Given the description of an element on the screen output the (x, y) to click on. 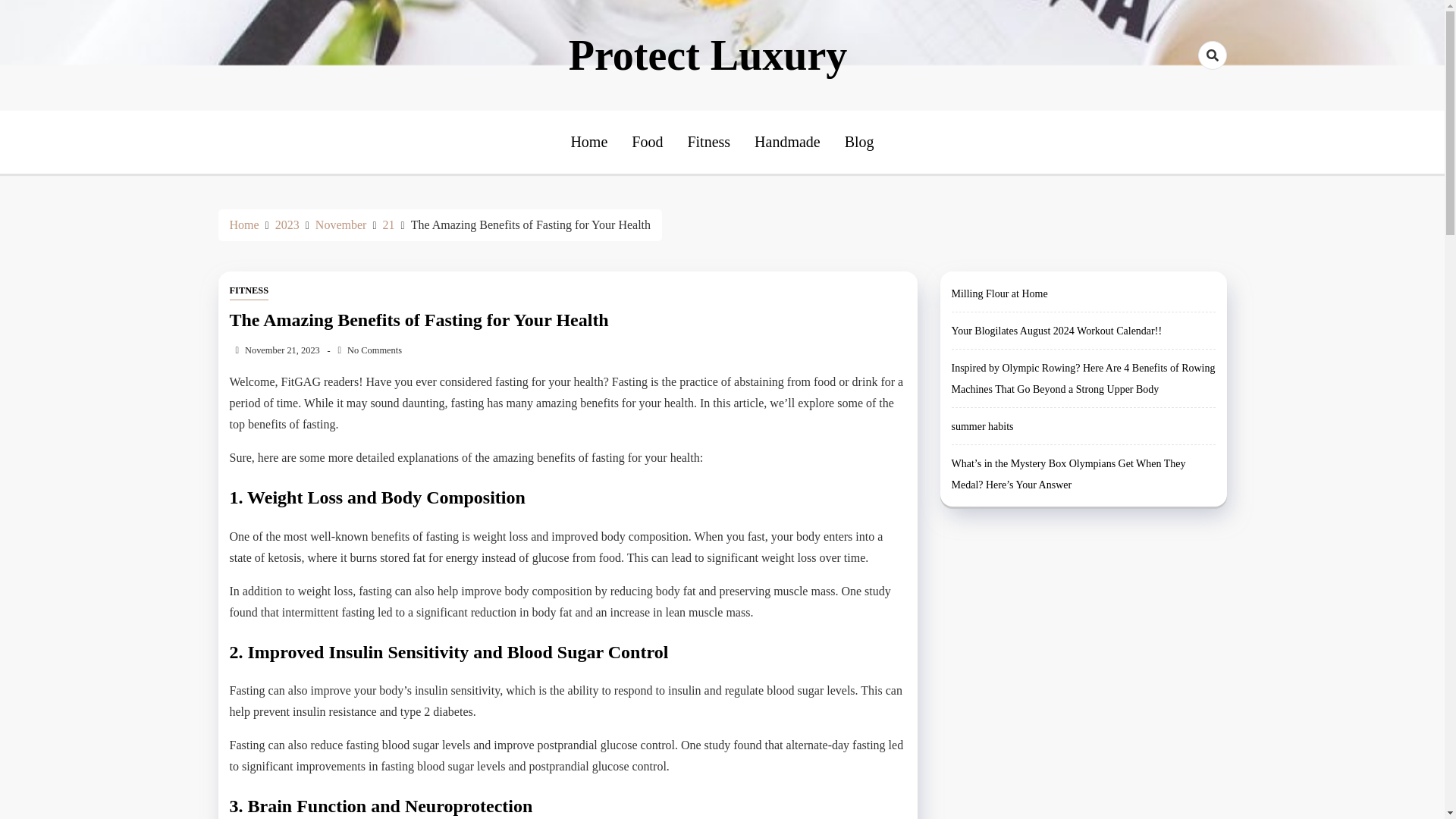
No Comments (369, 349)
Search (1184, 108)
21 (388, 224)
Your Blogilates August 2024 Workout Calendar!! (1055, 330)
November (340, 224)
November 21, 2023 (273, 349)
Handmade (787, 141)
Home (243, 224)
Protect Luxury (708, 54)
FITNESS (247, 291)
summer habits (981, 426)
2023 (287, 224)
Milling Flour at Home (998, 293)
